Given the description of an element on the screen output the (x, y) to click on. 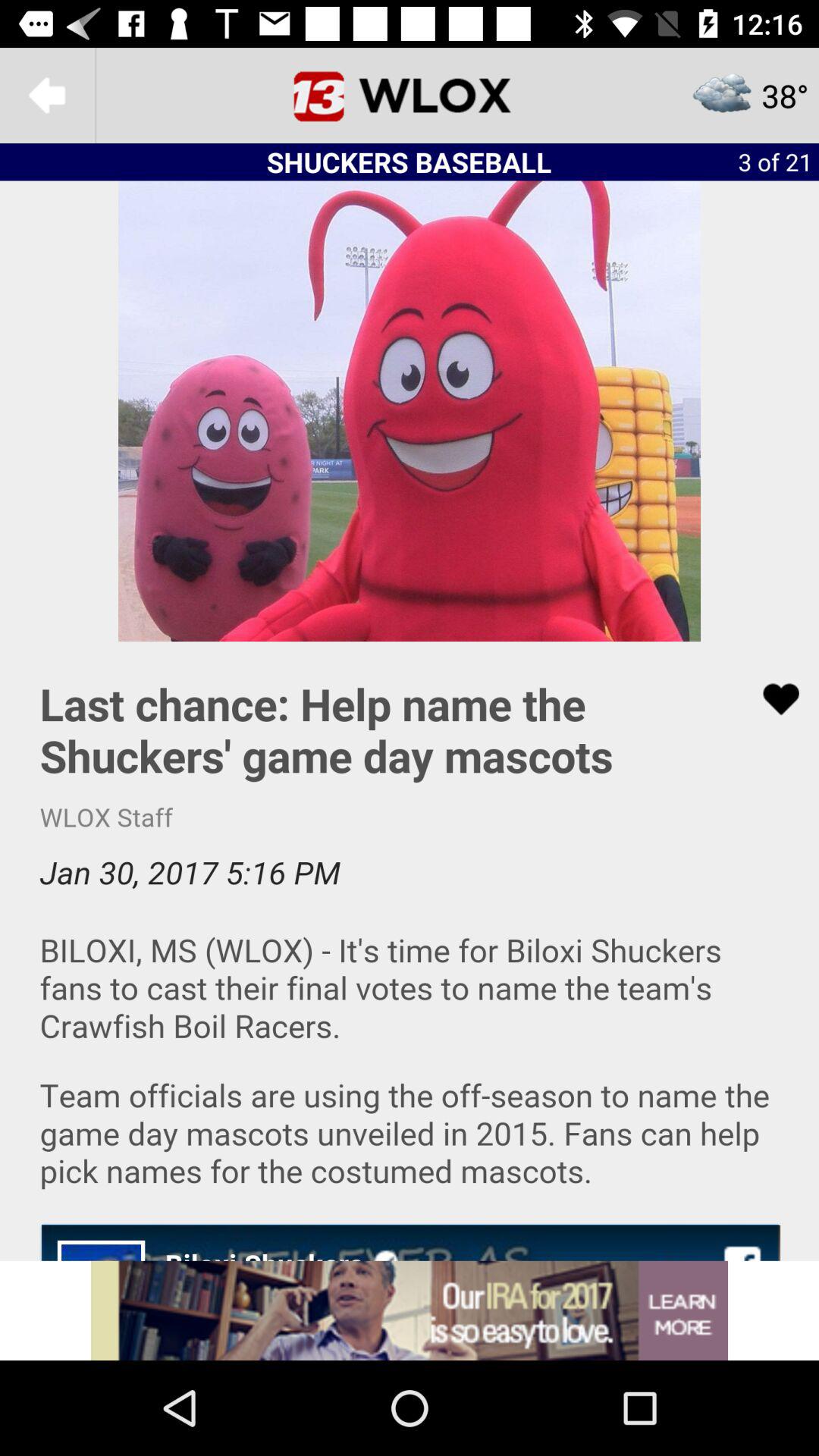
click advertisement (409, 1310)
